Given the description of an element on the screen output the (x, y) to click on. 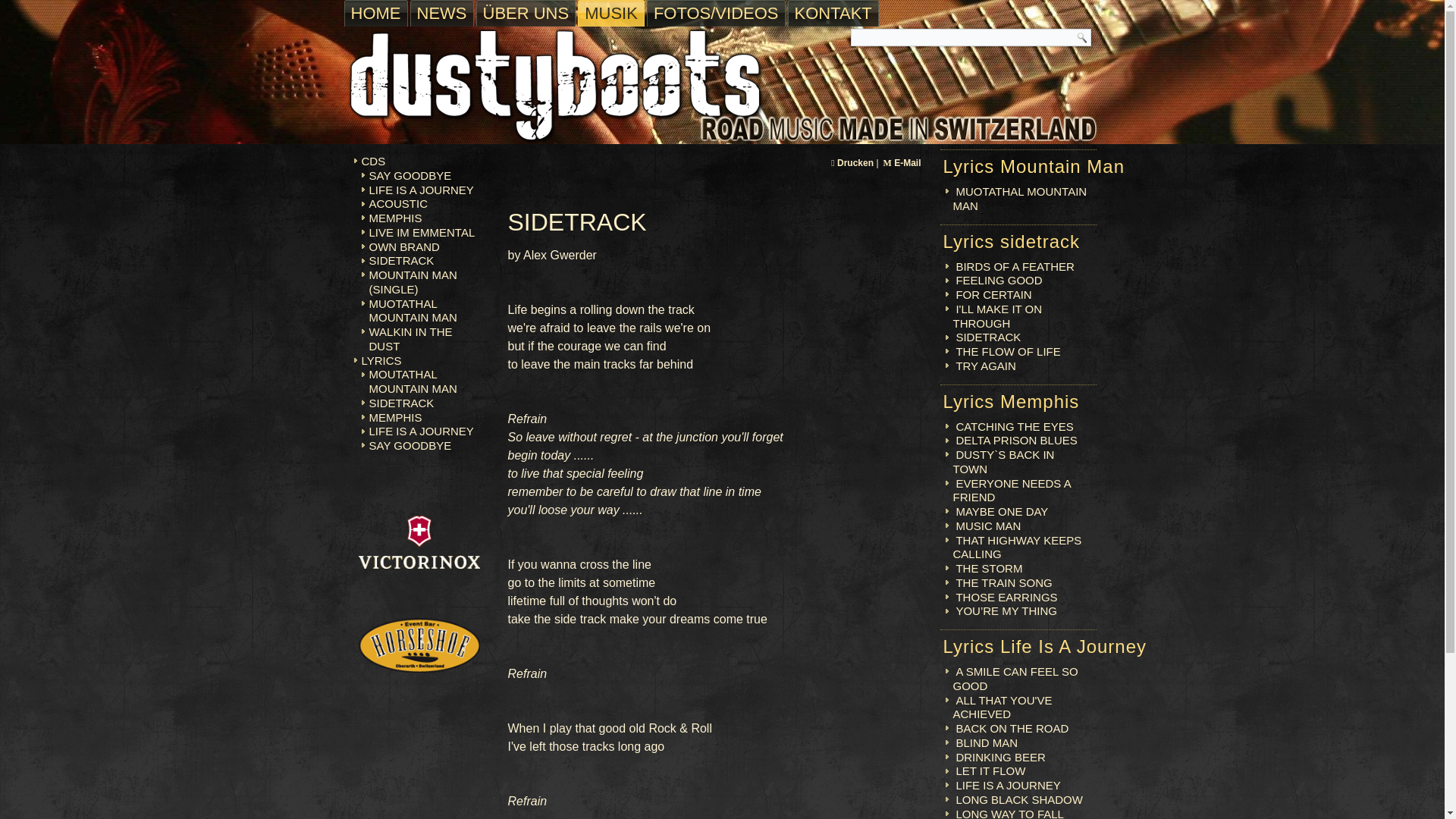
NEWS (441, 13)
Link einem Freund via E-Mail senden (900, 163)
HOME (375, 13)
MUSIK (611, 13)
